Given the description of an element on the screen output the (x, y) to click on. 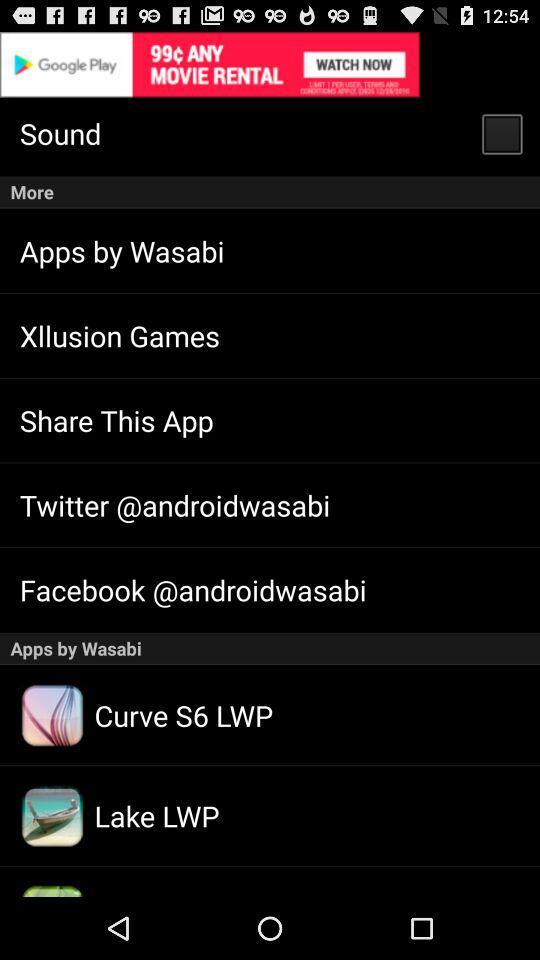
go to the advertised site (270, 64)
